Given the description of an element on the screen output the (x, y) to click on. 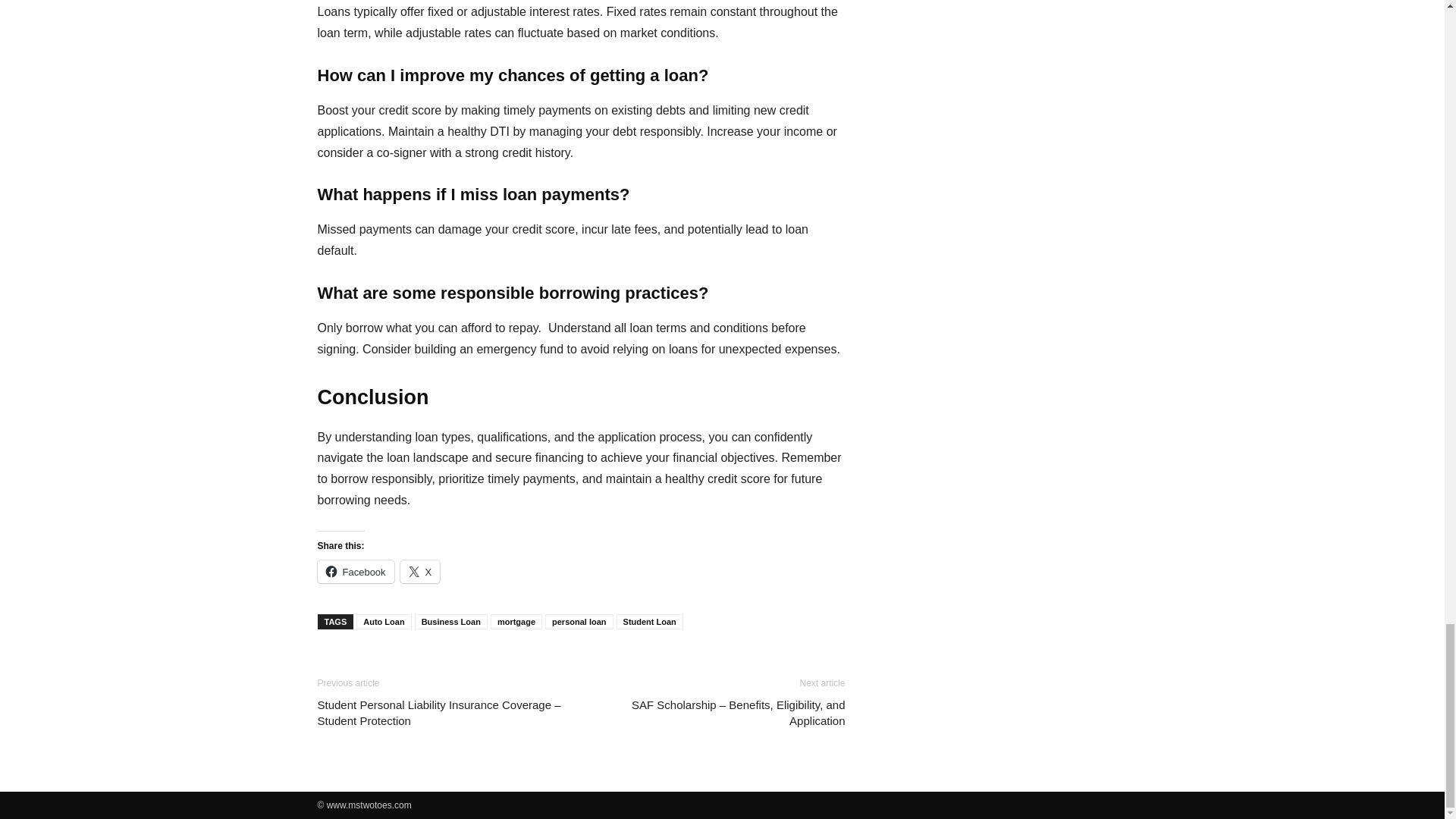
Auto Loan (383, 621)
Click to share on X (420, 571)
personal loan (578, 621)
bottomFacebookLike (430, 662)
Student Loan (648, 621)
mortgage (515, 621)
Facebook (355, 571)
X (420, 571)
Click to share on Facebook (355, 571)
Business Loan (450, 621)
